Given the description of an element on the screen output the (x, y) to click on. 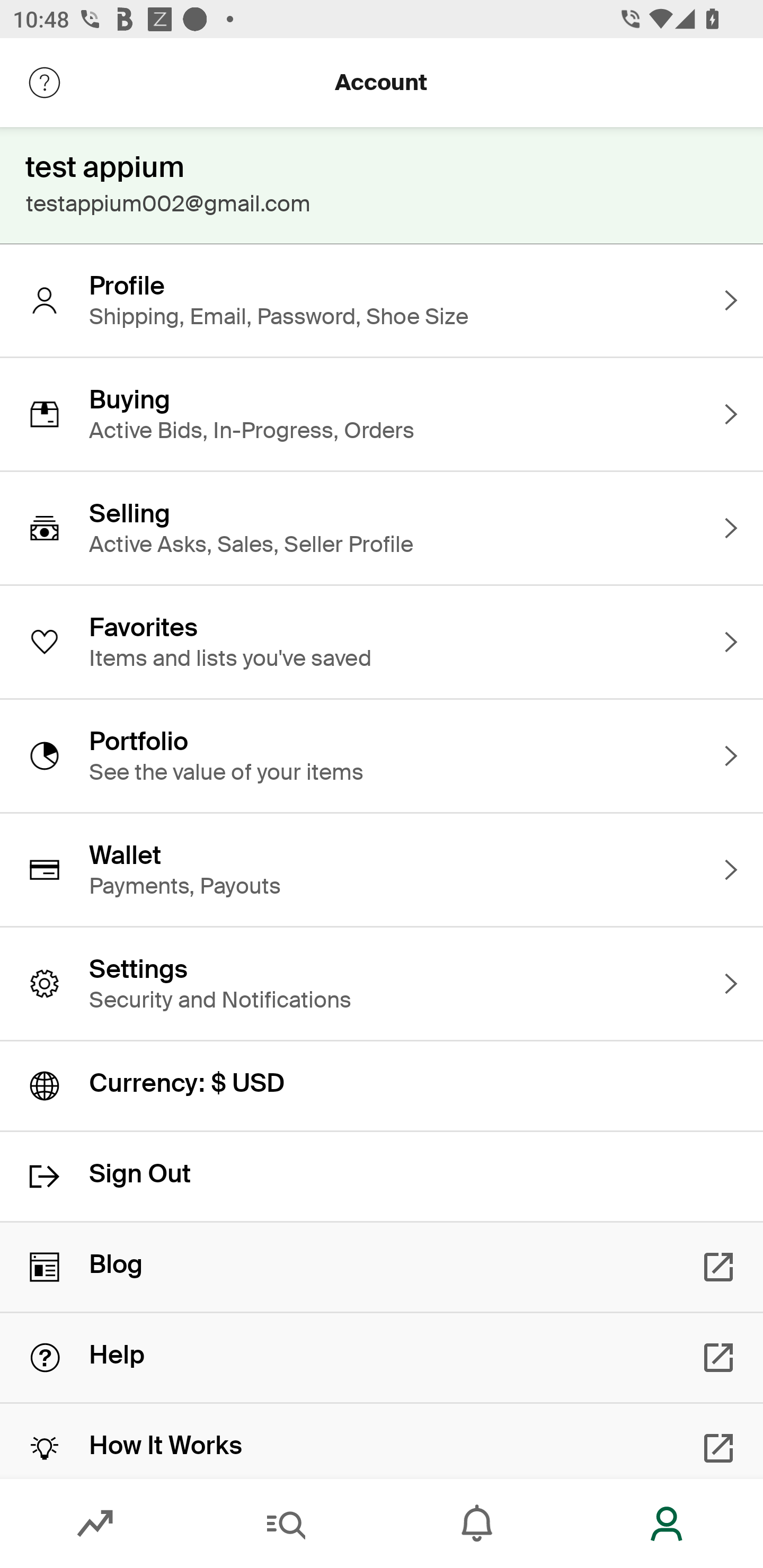
Profile Shipping, Email, Password, Shoe Size (381, 299)
Buying Active Bids, In-Progress, Orders (381, 413)
Selling Active Asks, Sales, Seller Profile (381, 527)
Favorites Items and lists you've saved (381, 641)
Portfolio See the value of your items (381, 755)
Wallet Payments, Payouts (381, 869)
Settings Security and Notifications (381, 983)
Currency: $ USD (381, 1085)
Sign Out (381, 1176)
Blog (381, 1266)
Help (381, 1357)
How It Works (381, 1440)
Market (95, 1523)
Search (285, 1523)
Inbox (476, 1523)
